Given the description of an element on the screen output the (x, y) to click on. 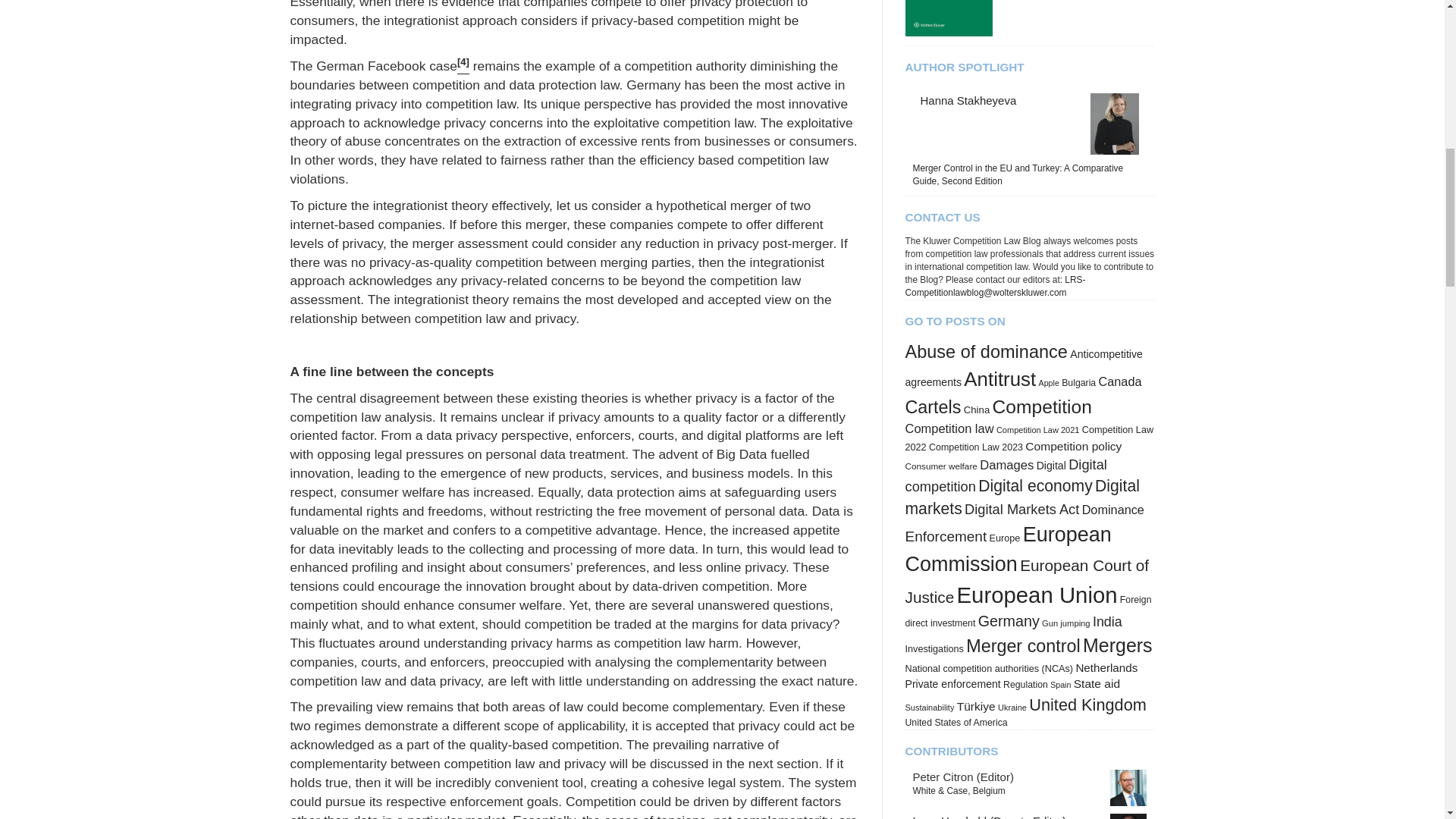
More about Hanna Stakheyeva (968, 100)
Hanna Stakheyeva (1114, 122)
